Given the description of an element on the screen output the (x, y) to click on. 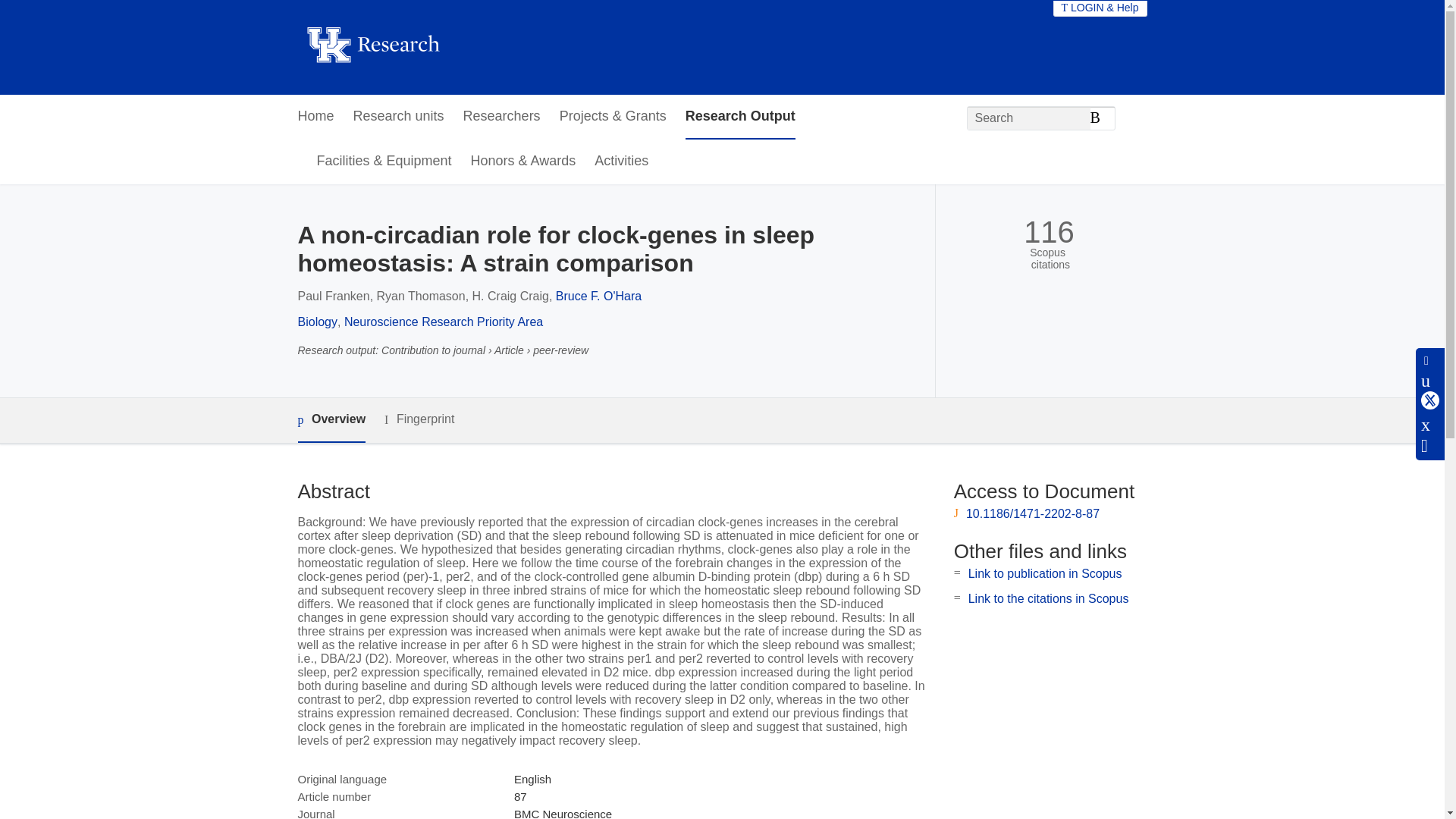
Activities (620, 161)
Fingerprint (419, 419)
Overview (331, 420)
Biology (316, 321)
University of Kentucky Home (372, 47)
Link to publication in Scopus (1045, 573)
Neuroscience Research Priority Area (443, 321)
Home (315, 117)
Bruce F. O'Hara (599, 295)
Researchers (501, 117)
Link to the citations in Scopus (1048, 598)
Research units (398, 117)
Research Output (739, 117)
